Given the description of an element on the screen output the (x, y) to click on. 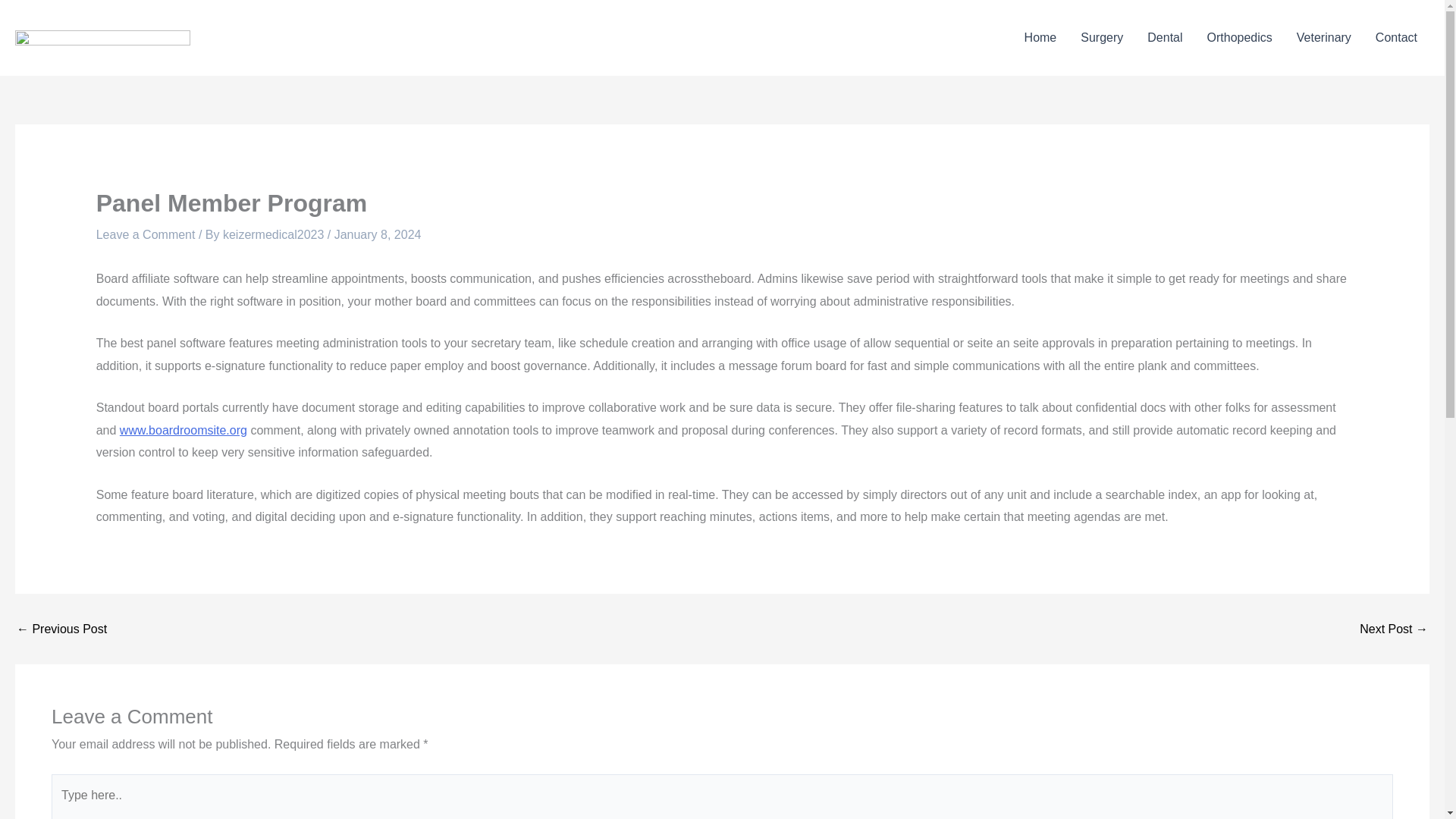
Leave a Comment (145, 234)
keizermedical2023 (274, 234)
Orthopedics (1239, 38)
Veterinary (1323, 38)
www.boardroomsite.org (183, 430)
View all posts by keizermedical2023 (274, 234)
